Given the description of an element on the screen output the (x, y) to click on. 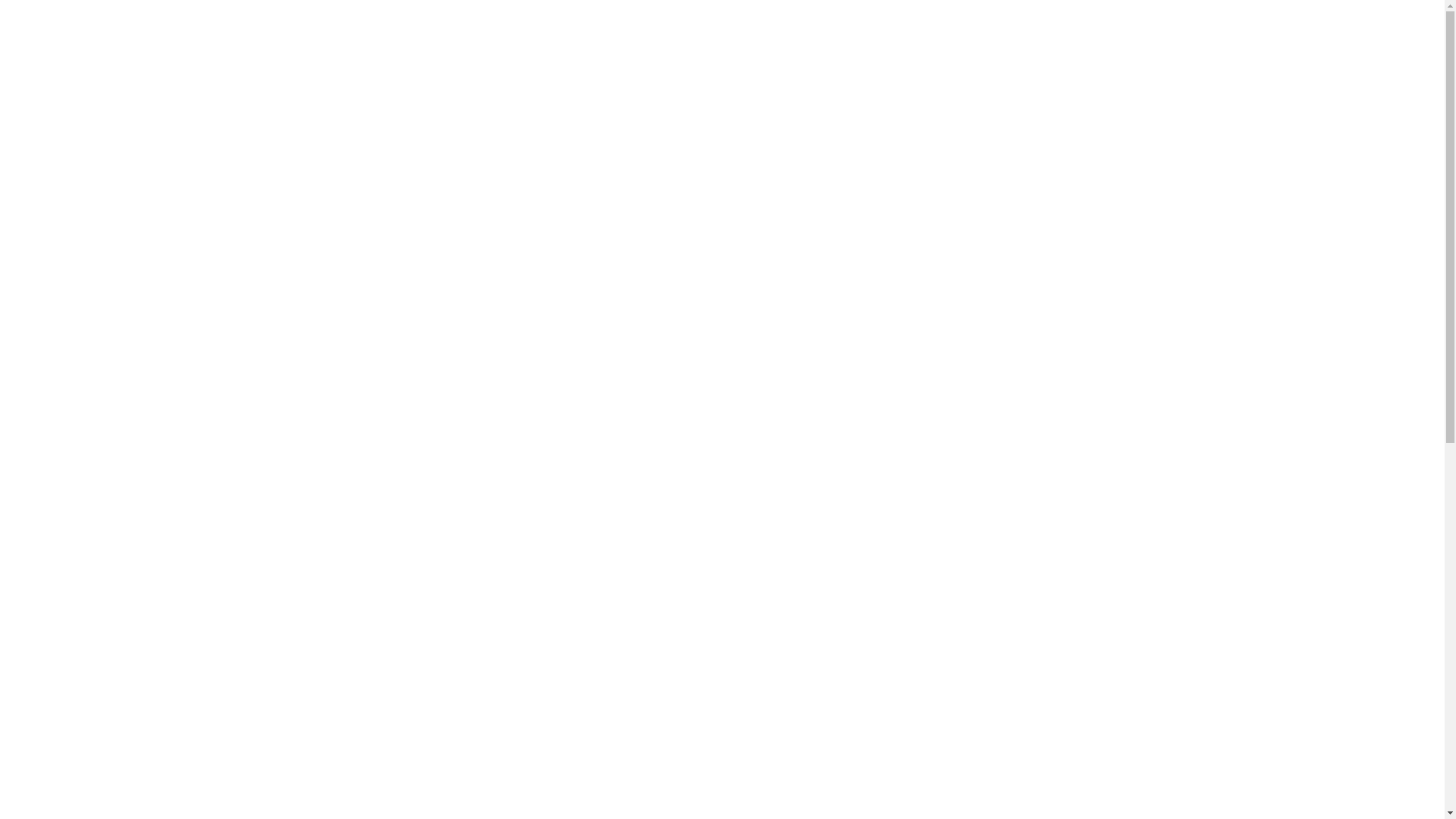
Dining Element type: text (664, 22)
Home Element type: text (444, 22)
Cellar Club Element type: text (736, 22)
Cellar Door Element type: text (591, 22)
Contact Element type: text (994, 22)
News & Events Element type: text (832, 22)
Buy Wine Element type: text (510, 22)
About Us Element type: text (923, 22)
LOG IN Element type: text (416, 658)
0 Element type: text (1398, 21)
